Given the description of an element on the screen output the (x, y) to click on. 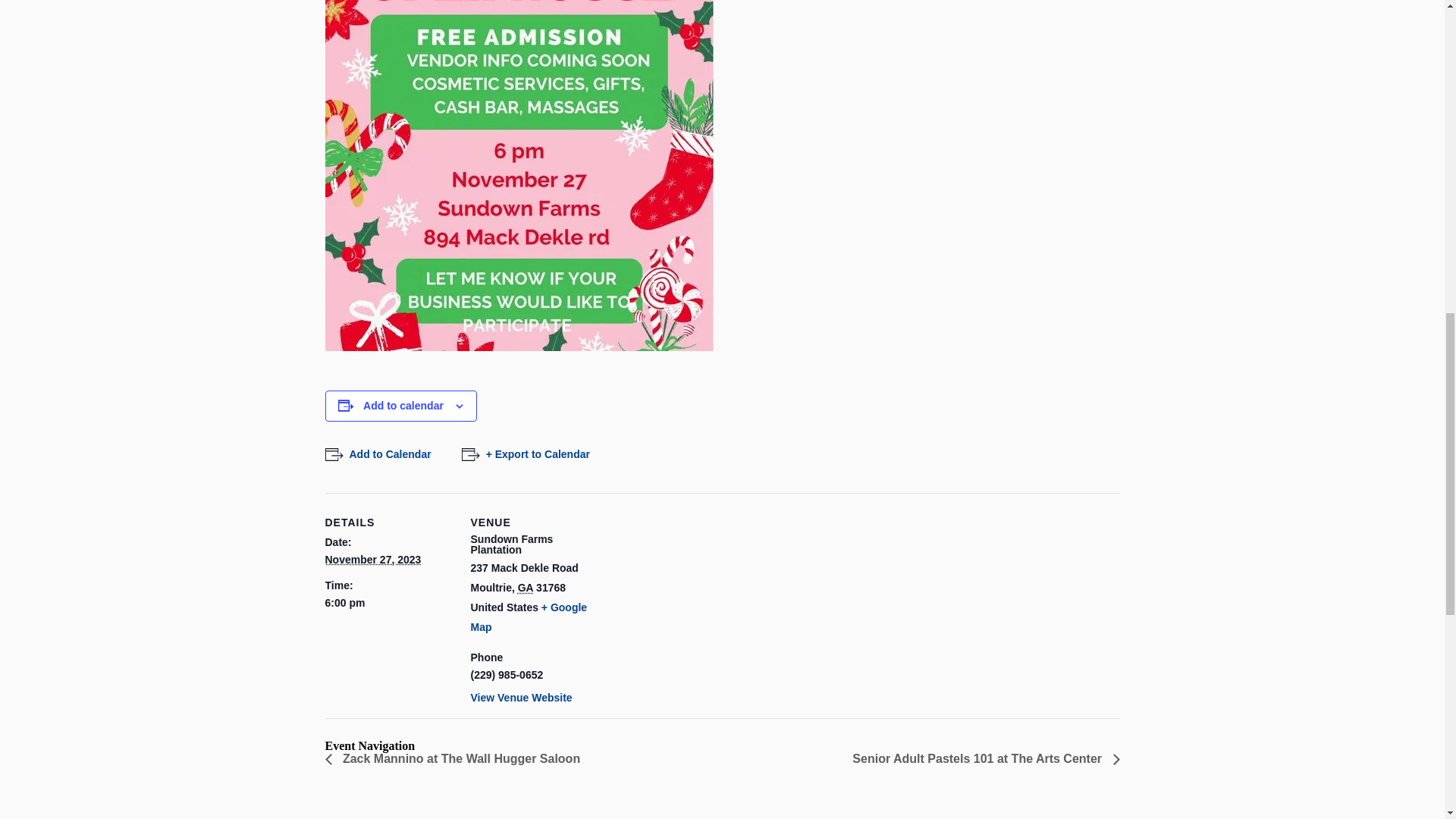
Georgia (525, 587)
Add to Google Calendar (377, 454)
Click to view a Google Map (528, 617)
2023-11-27 (372, 559)
2023-11-27 (387, 602)
